Given the description of an element on the screen output the (x, y) to click on. 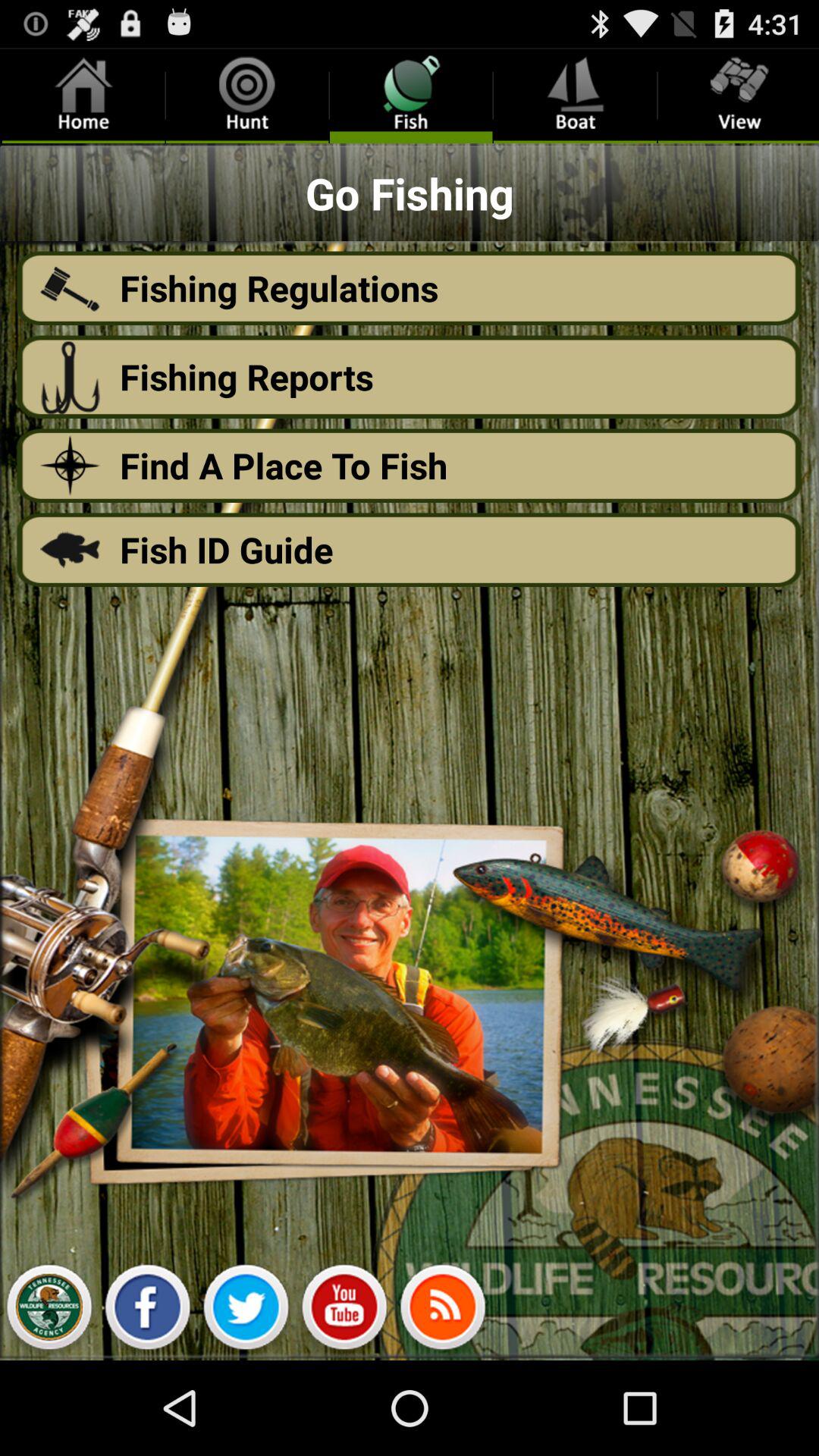
go to wildlife agency website (49, 1311)
